Given the description of an element on the screen output the (x, y) to click on. 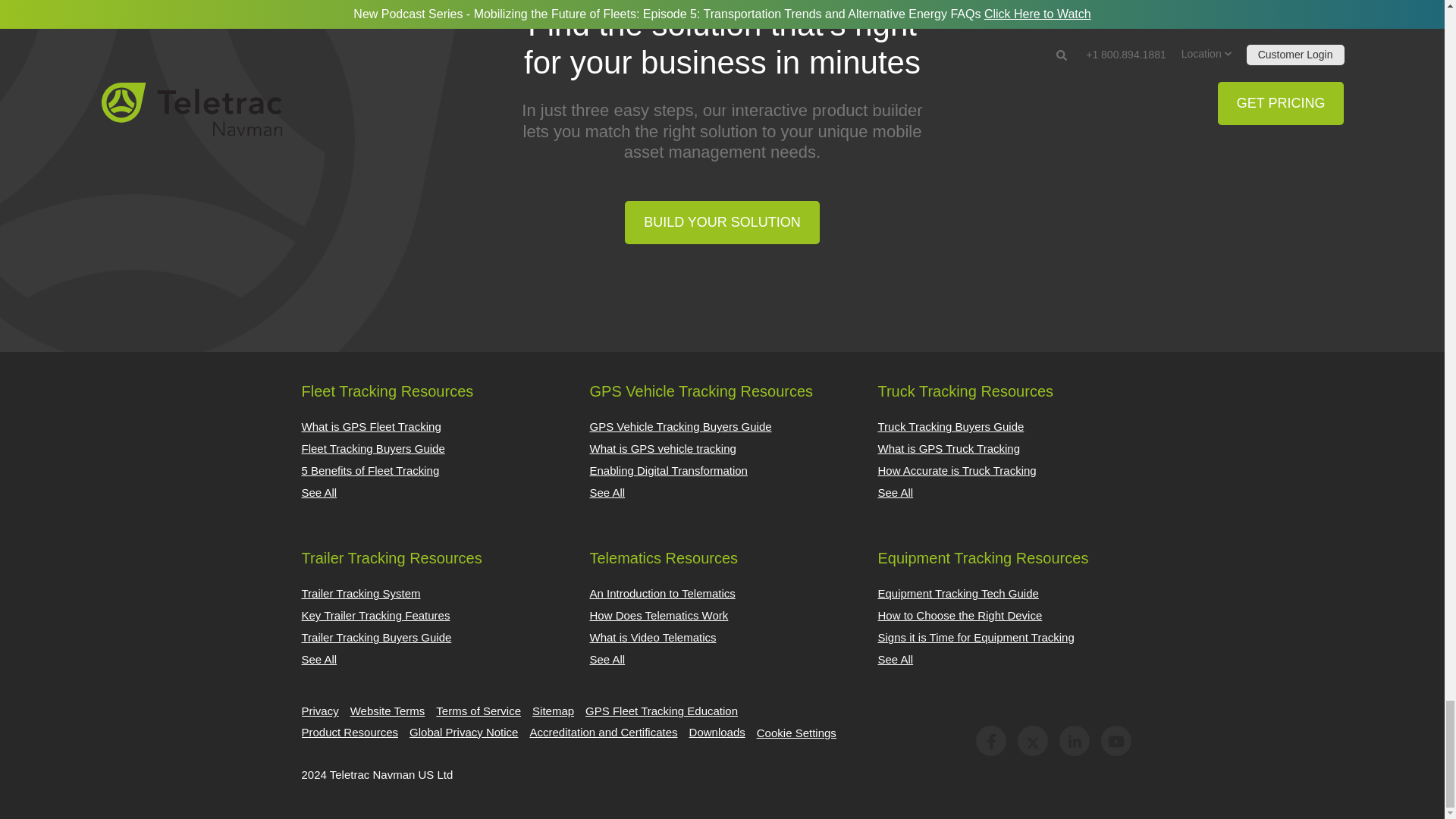
Youtube (1115, 740)
Twitter (1032, 740)
LinkedIn (1074, 740)
Facebook (990, 740)
